Given the description of an element on the screen output the (x, y) to click on. 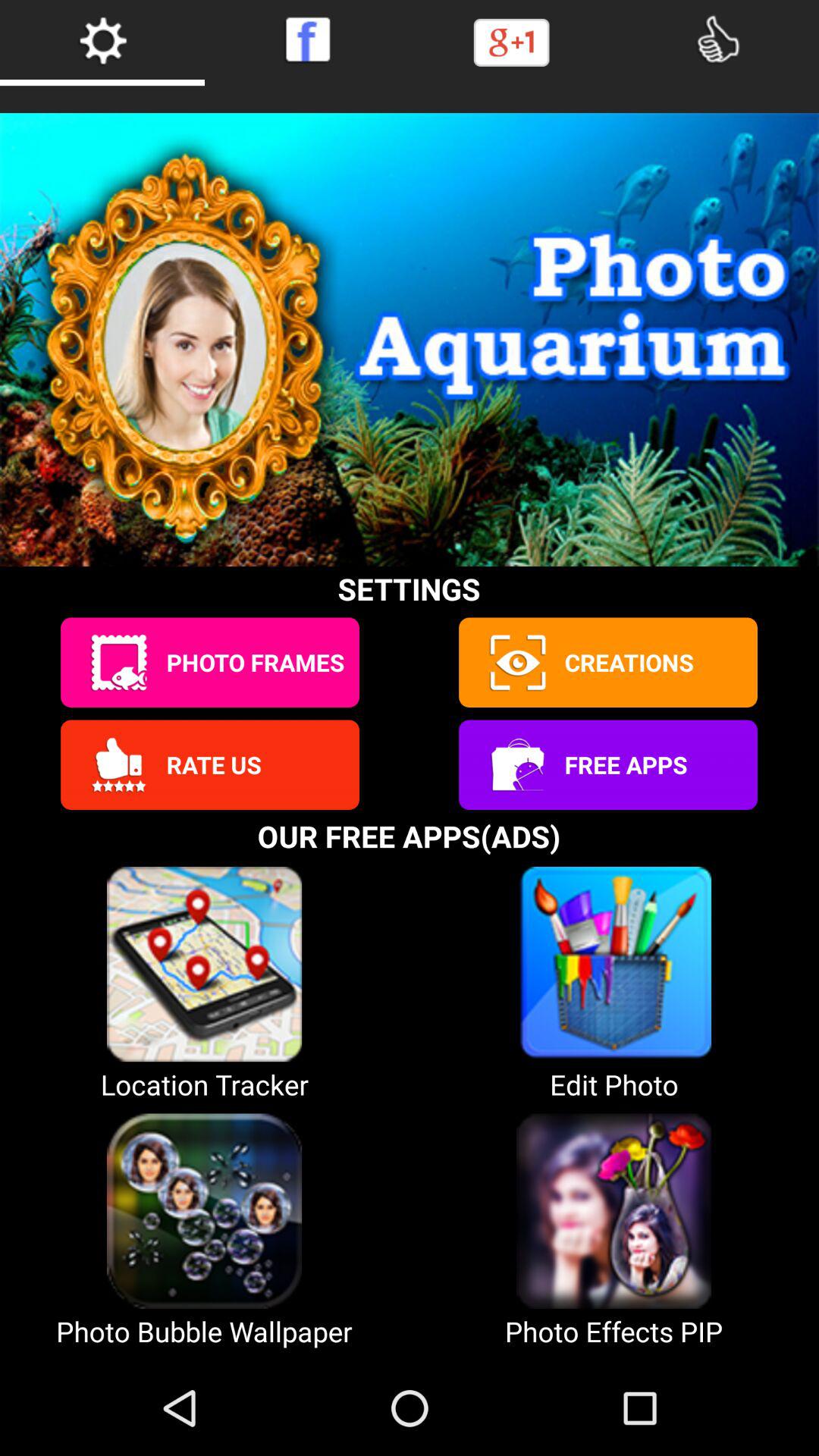
rate the application (118, 764)
